Given the description of an element on the screen output the (x, y) to click on. 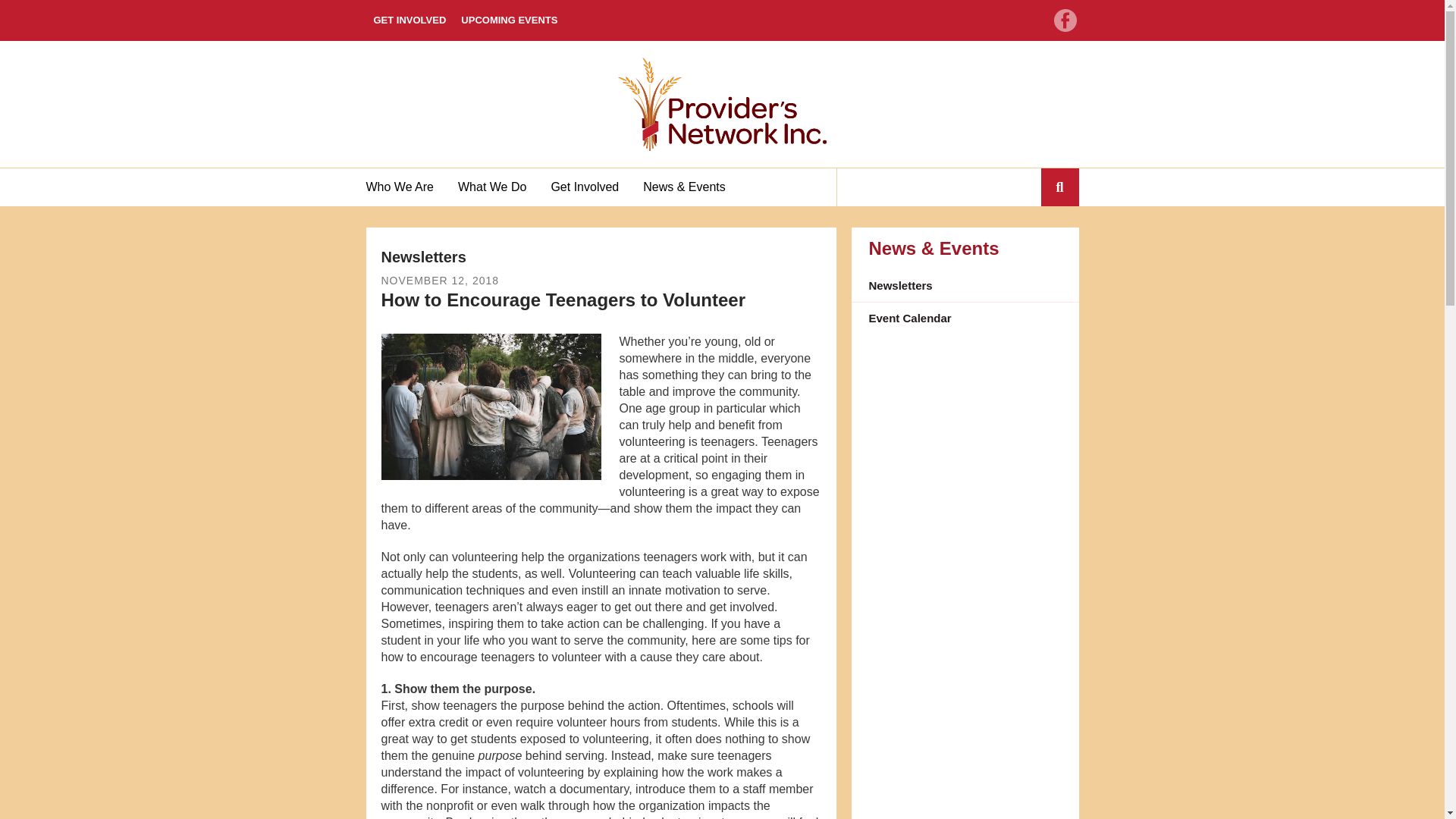
logo (722, 103)
UPCOMING EVENTS (508, 20)
Get Involved (584, 187)
GET INVOLVED (408, 20)
What We Do (491, 187)
Who We Are (405, 187)
